Given the description of an element on the screen output the (x, y) to click on. 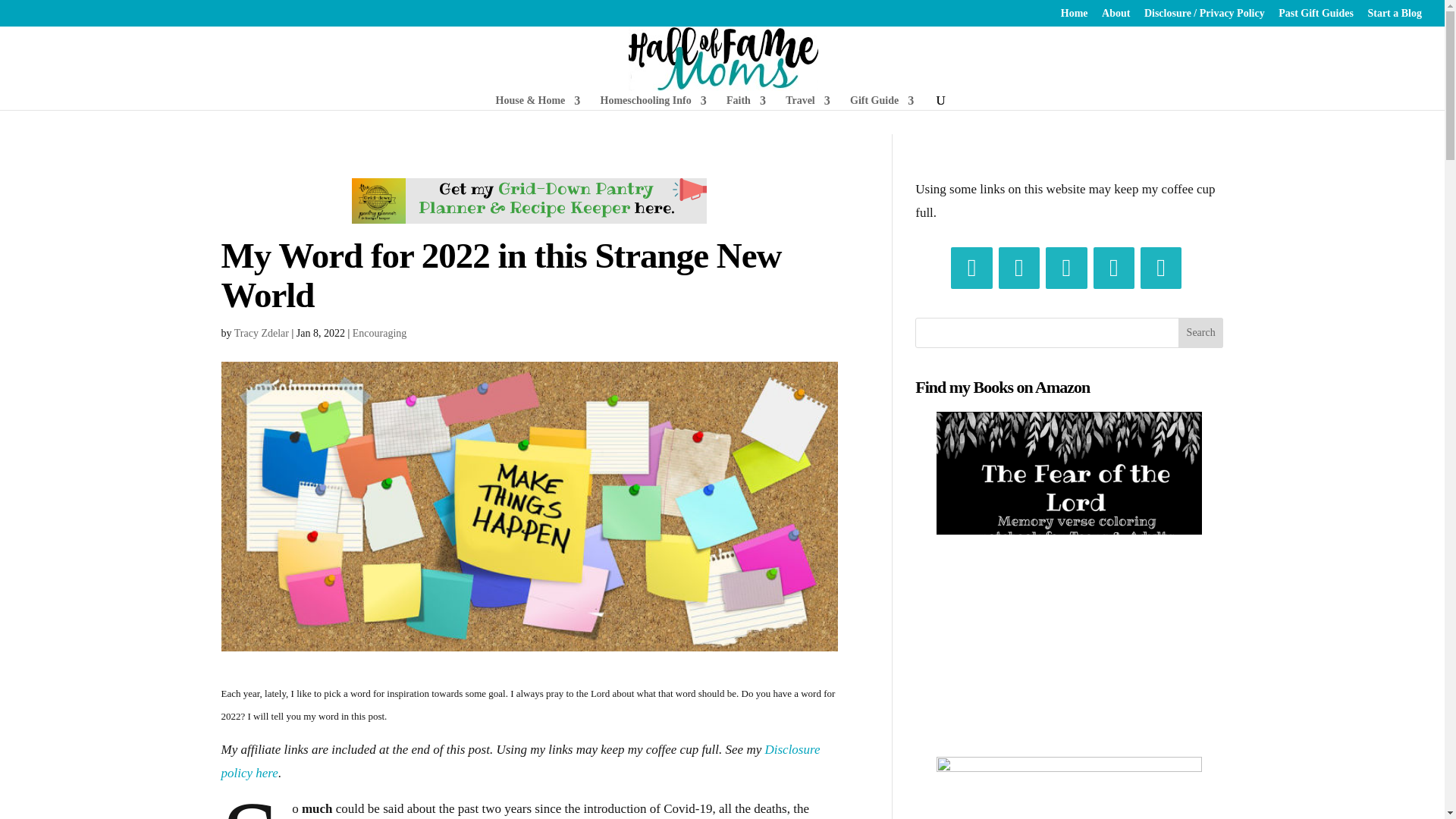
Home (1074, 16)
Pinterest (1065, 267)
Posts by Tracy Zdelar (261, 333)
Faith (745, 102)
Twitter (1018, 267)
Past Gift Guides (1316, 16)
Facebook (970, 267)
YouTube (1160, 267)
About (1115, 16)
Homeschooling Info (652, 102)
